Given the description of an element on the screen output the (x, y) to click on. 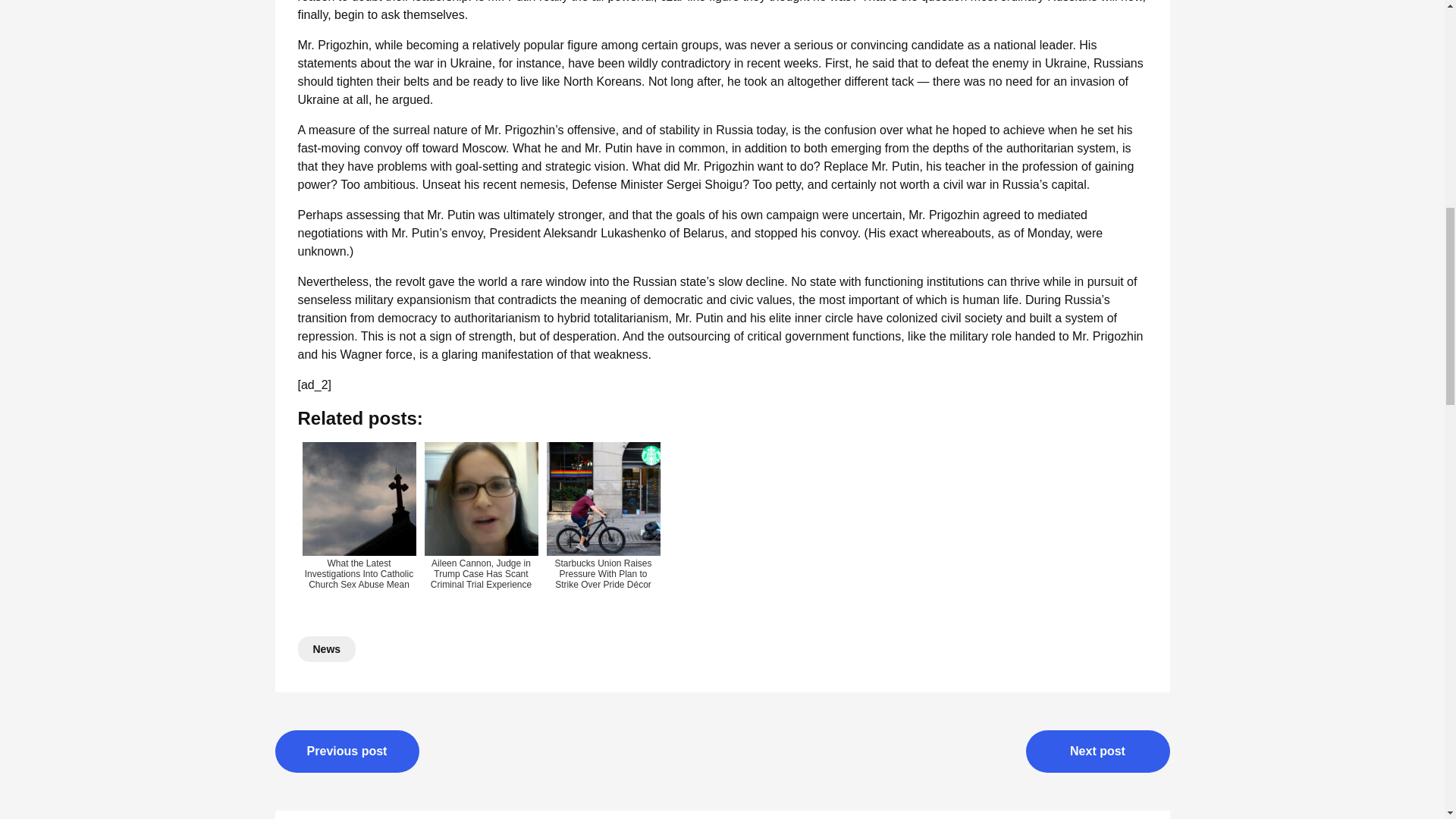
News (326, 648)
Previous post (347, 751)
Next post (1097, 751)
